Given the description of an element on the screen output the (x, y) to click on. 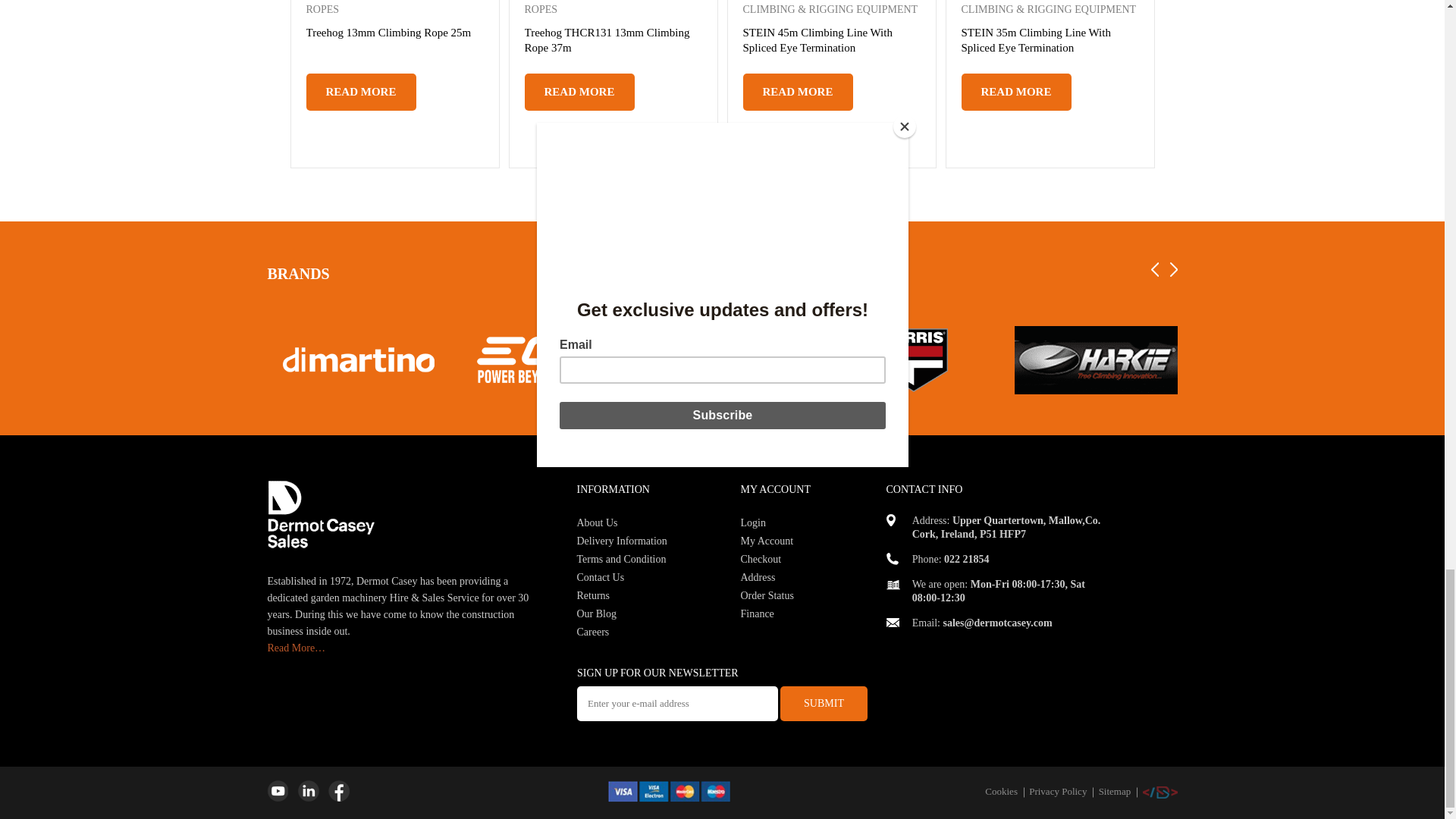
dermotcasey (892, 584)
dermotcasey (891, 558)
SUBMIT (823, 703)
dermotcasey (669, 791)
dermotcasey (320, 513)
dermotcasey (891, 622)
